Given the description of an element on the screen output the (x, y) to click on. 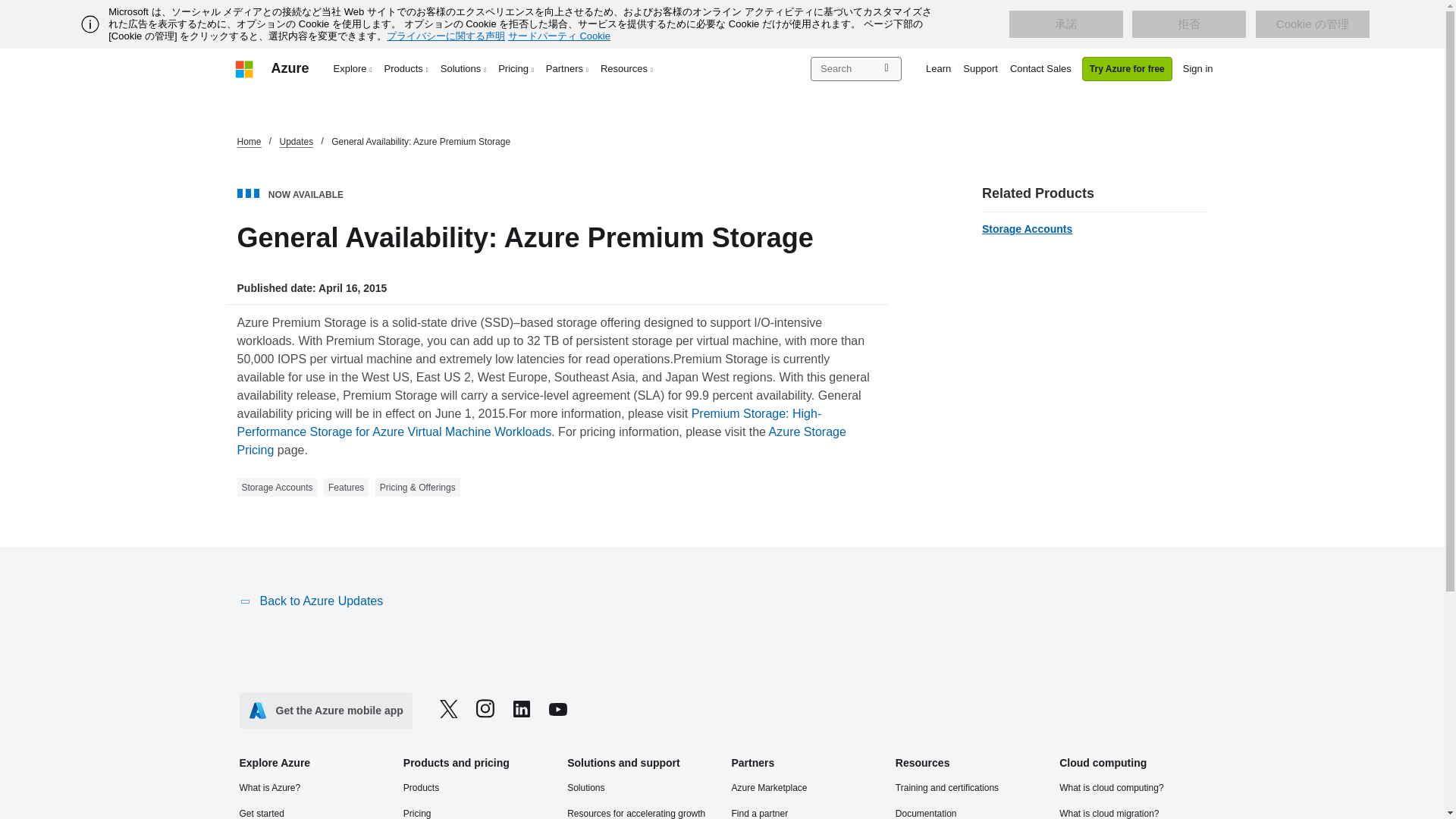
Explore (352, 68)
Products (405, 68)
Azure (289, 68)
Skip to main content (7, 7)
